Given the description of an element on the screen output the (x, y) to click on. 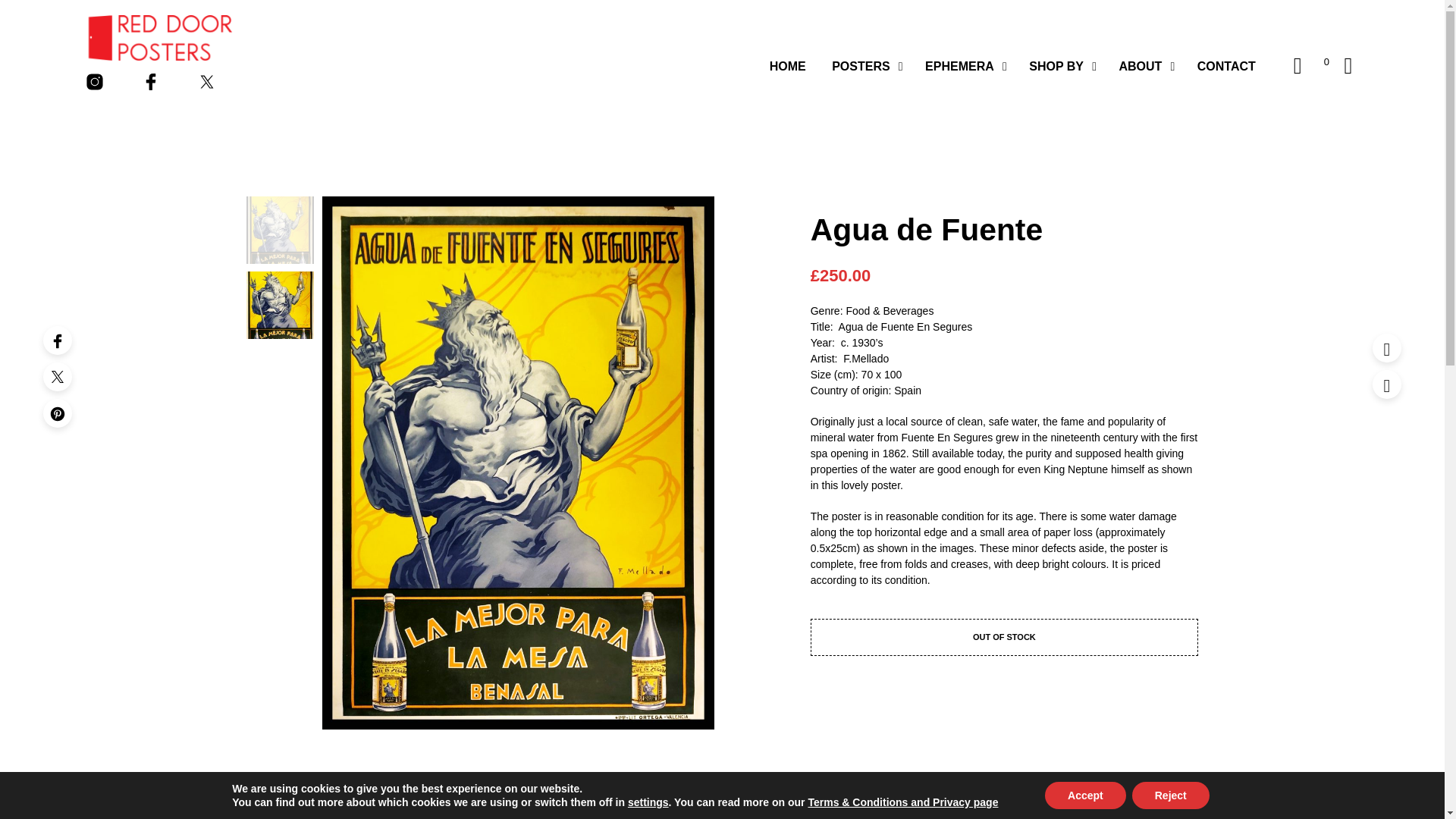
POSTERS (861, 66)
SHOP BY (1055, 66)
HOME (787, 66)
EPHEMERA (960, 66)
